Given the description of an element on the screen output the (x, y) to click on. 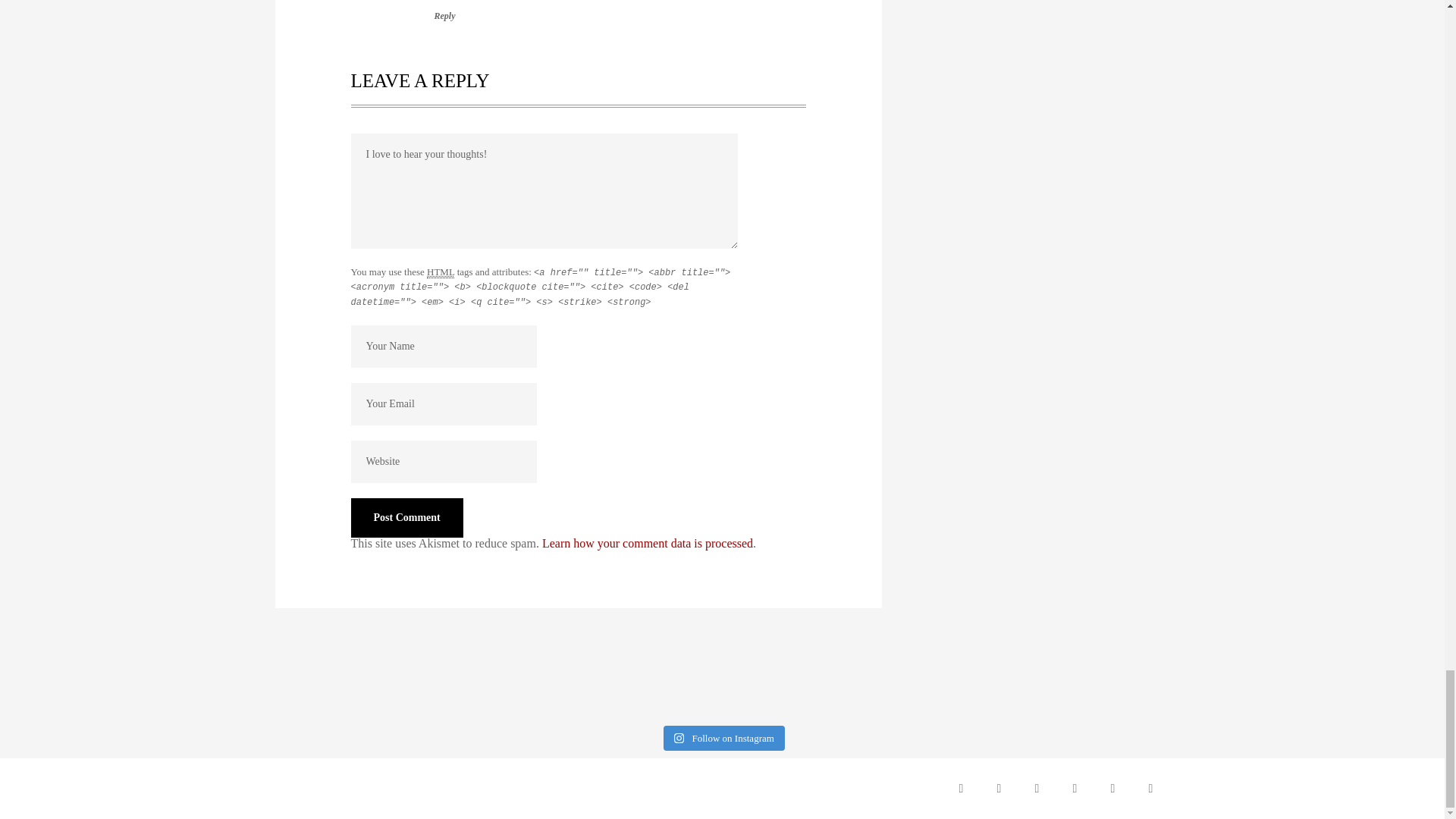
HyperText Markup Language (440, 272)
Post Comment (406, 517)
Your Name (442, 346)
Website (442, 461)
Your Email (442, 404)
